Given the description of an element on the screen output the (x, y) to click on. 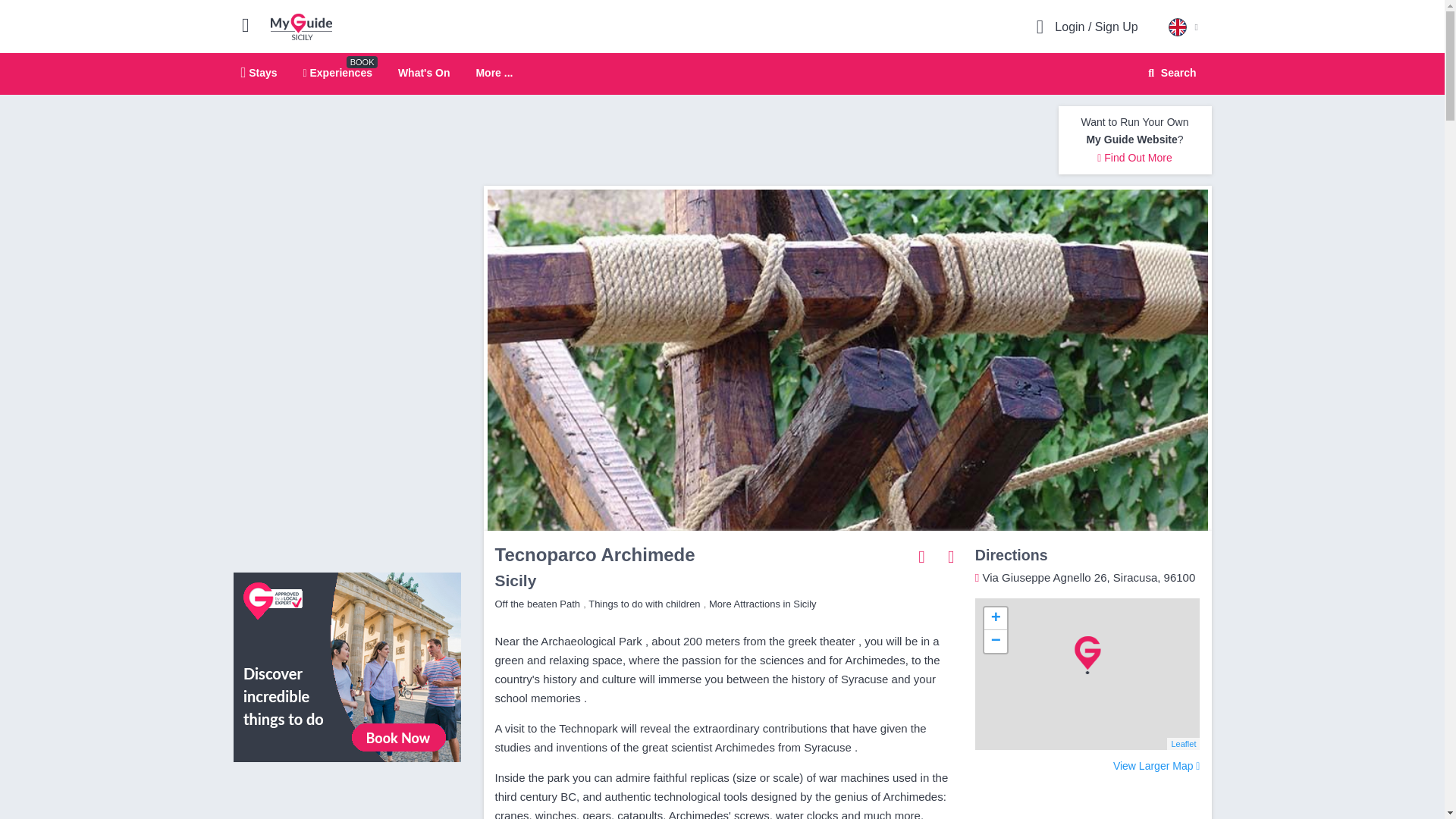
View All Experiences (346, 666)
My Guide Sicily (300, 25)
What's On (423, 72)
Zoom out (995, 640)
Advertisement (759, 140)
Zoom in (995, 618)
A JS library for interactive maps (1182, 743)
Experiences (337, 72)
Advertisement (346, 796)
Search (1169, 72)
Stays (721, 74)
Search Website (259, 72)
More ... (1170, 73)
